Given the description of an element on the screen output the (x, y) to click on. 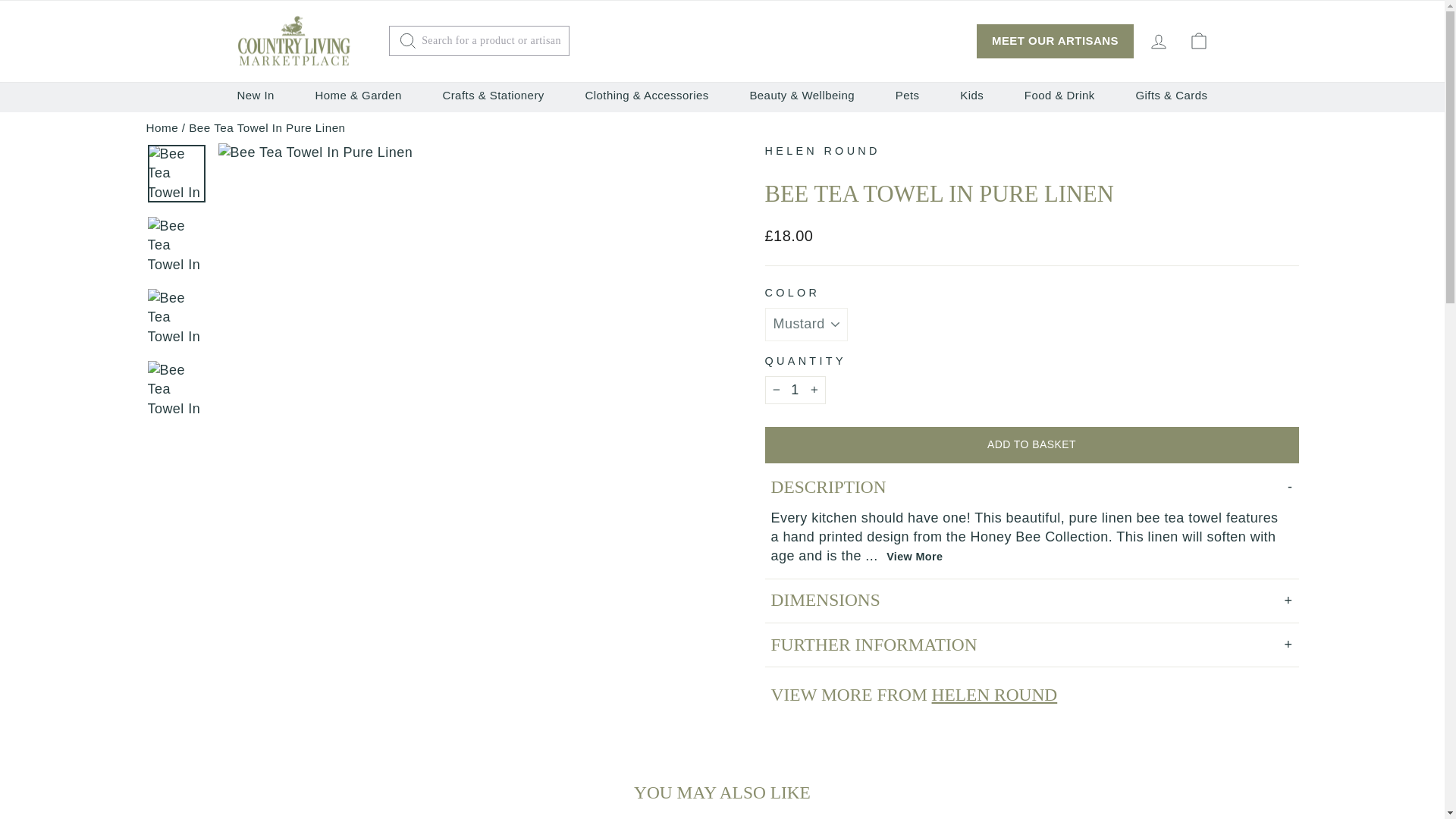
Helen Round (821, 150)
Back to the frontpage (161, 127)
1 (794, 389)
